Given the description of an element on the screen output the (x, y) to click on. 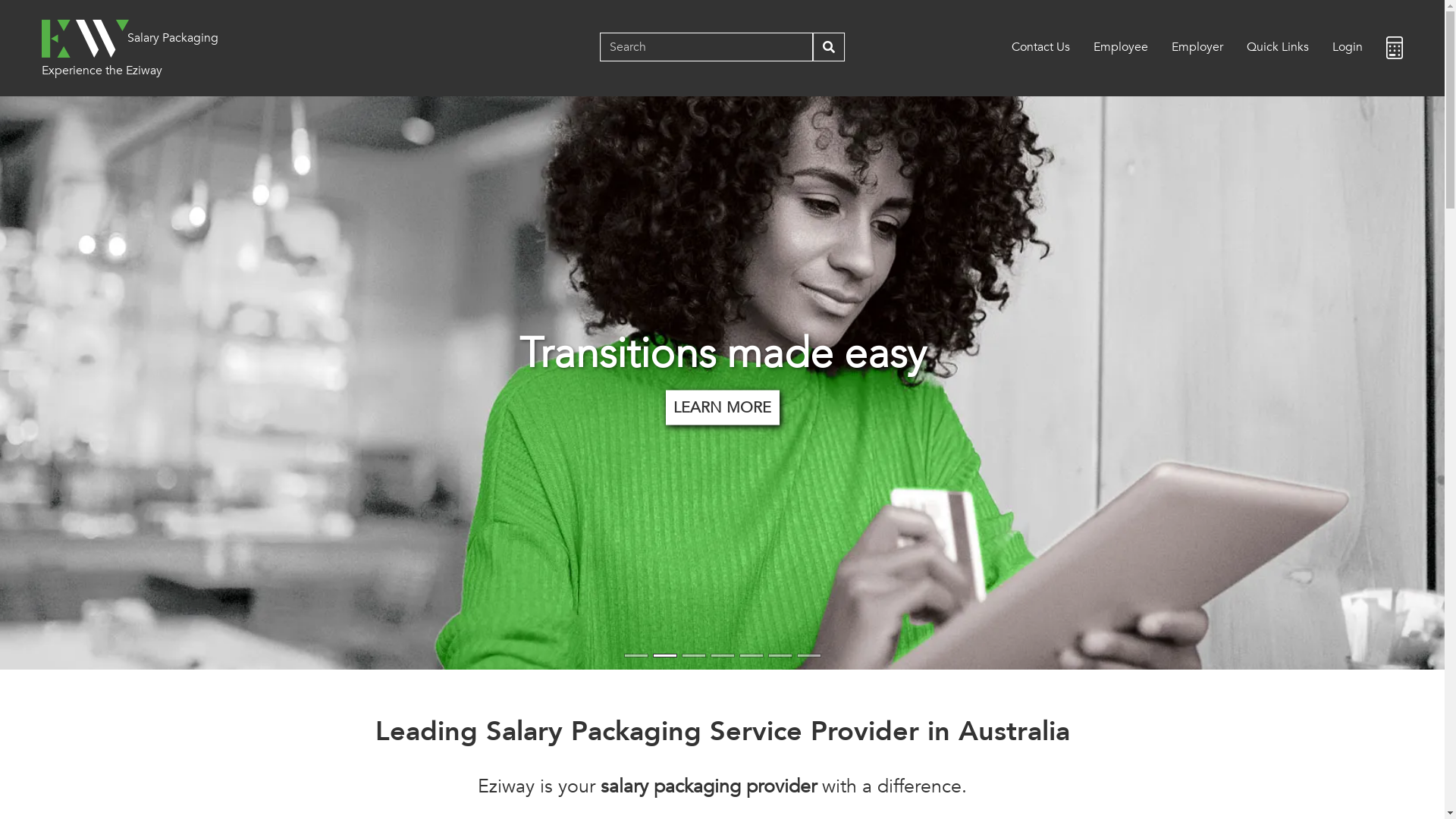
Contact Us Element type: text (1040, 46)
Login Element type: text (1347, 46)
Employee Element type: text (1120, 46)
Employer Element type: text (1197, 46)
Experience the Eziway Element type: text (101, 57)
Quick Links Element type: text (1277, 46)
LEARN MORE Element type: text (722, 406)
